Given the description of an element on the screen output the (x, y) to click on. 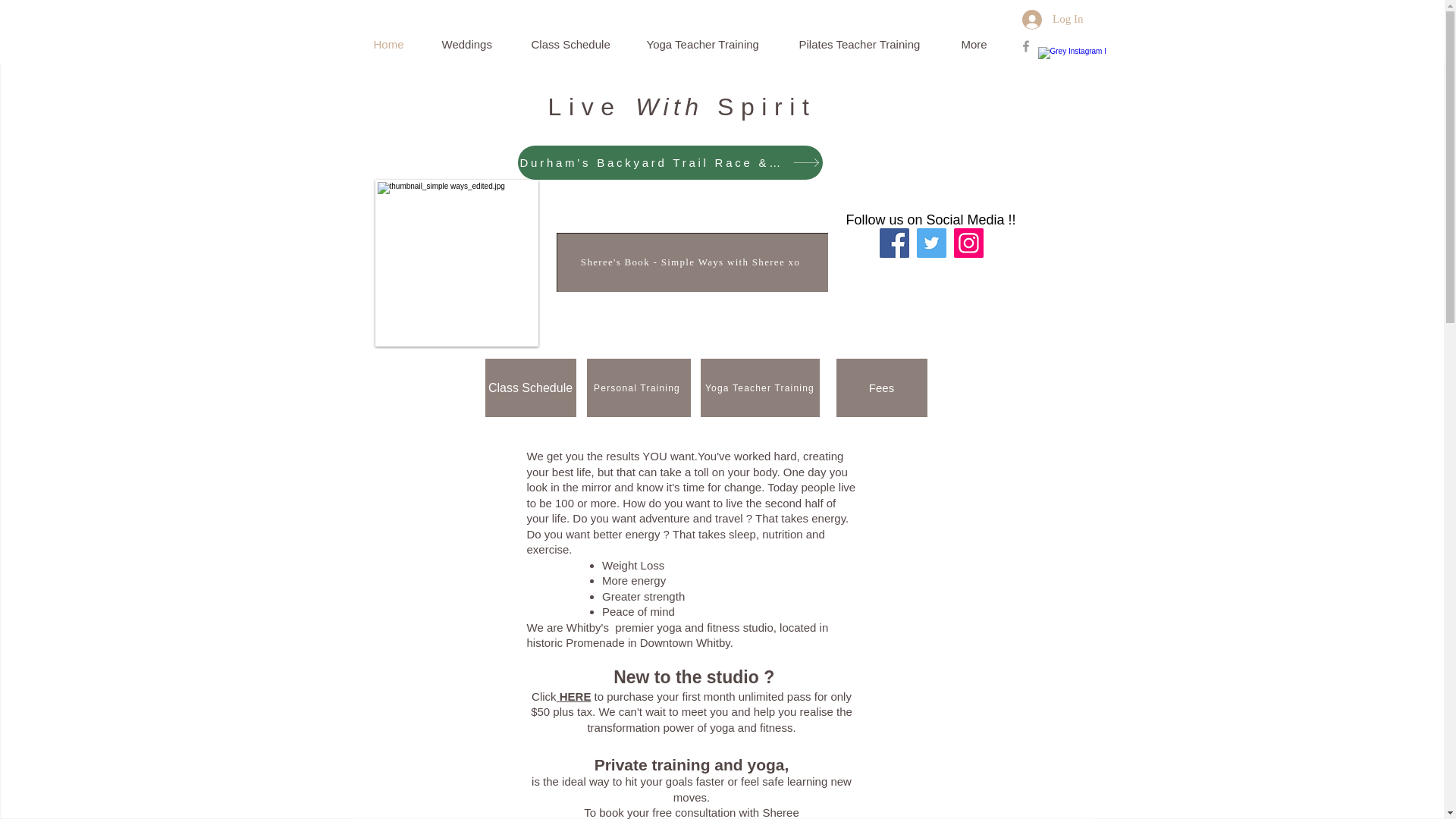
Class Schedule (580, 44)
HERE (573, 696)
Yoga Teacher Training (759, 387)
Log In (1052, 18)
Spirit (766, 106)
Sheree's Book - Simple Ways with Sheree xo (692, 261)
Home (399, 44)
Live With (625, 106)
Fees (880, 387)
Personal Training (638, 387)
Class Schedule (530, 387)
Weddings (477, 44)
Yoga Teacher Training (714, 44)
Pilates Teacher Training (872, 44)
